Given the description of an element on the screen output the (x, y) to click on. 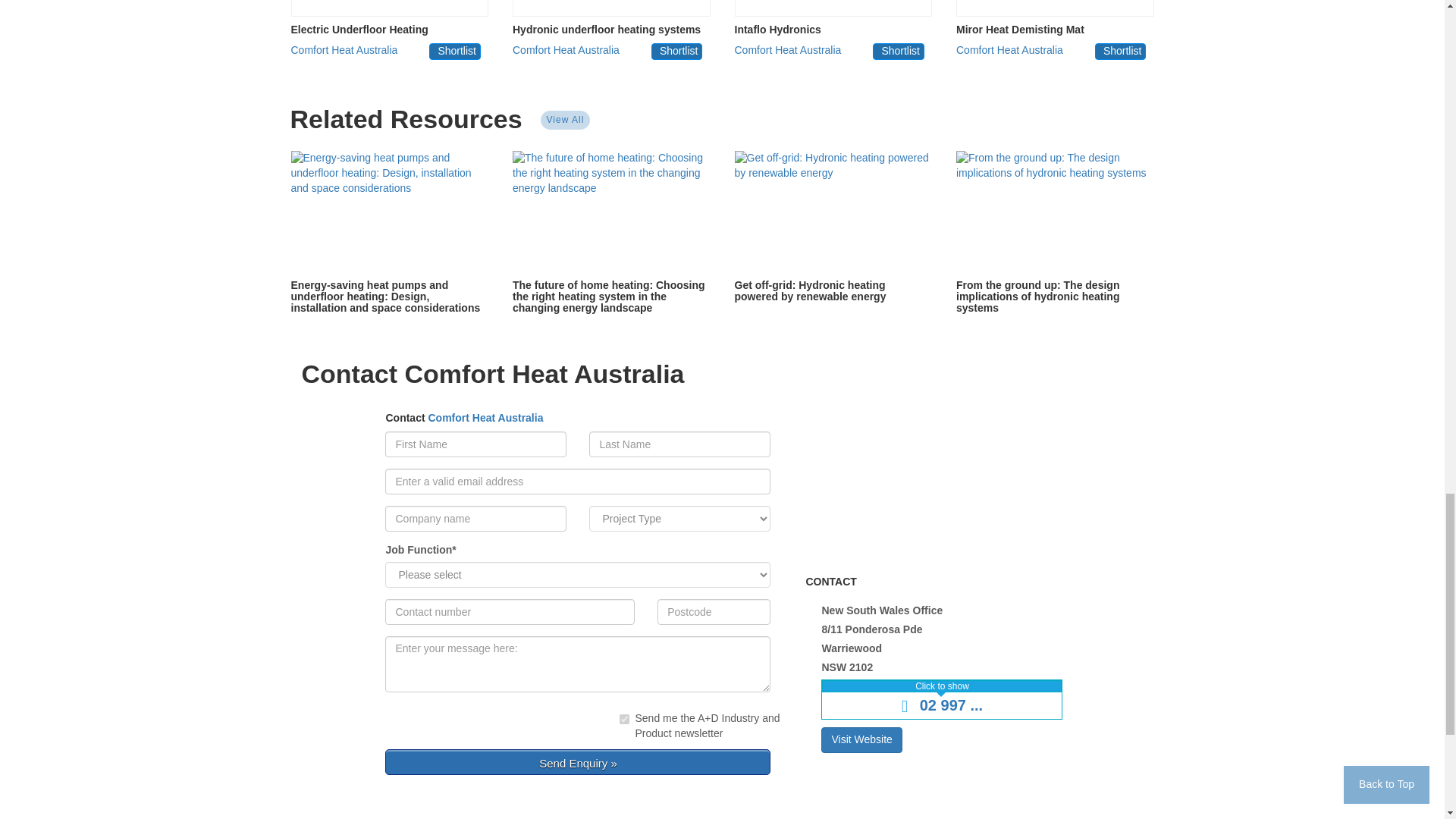
on (624, 718)
